Given the description of an element on the screen output the (x, y) to click on. 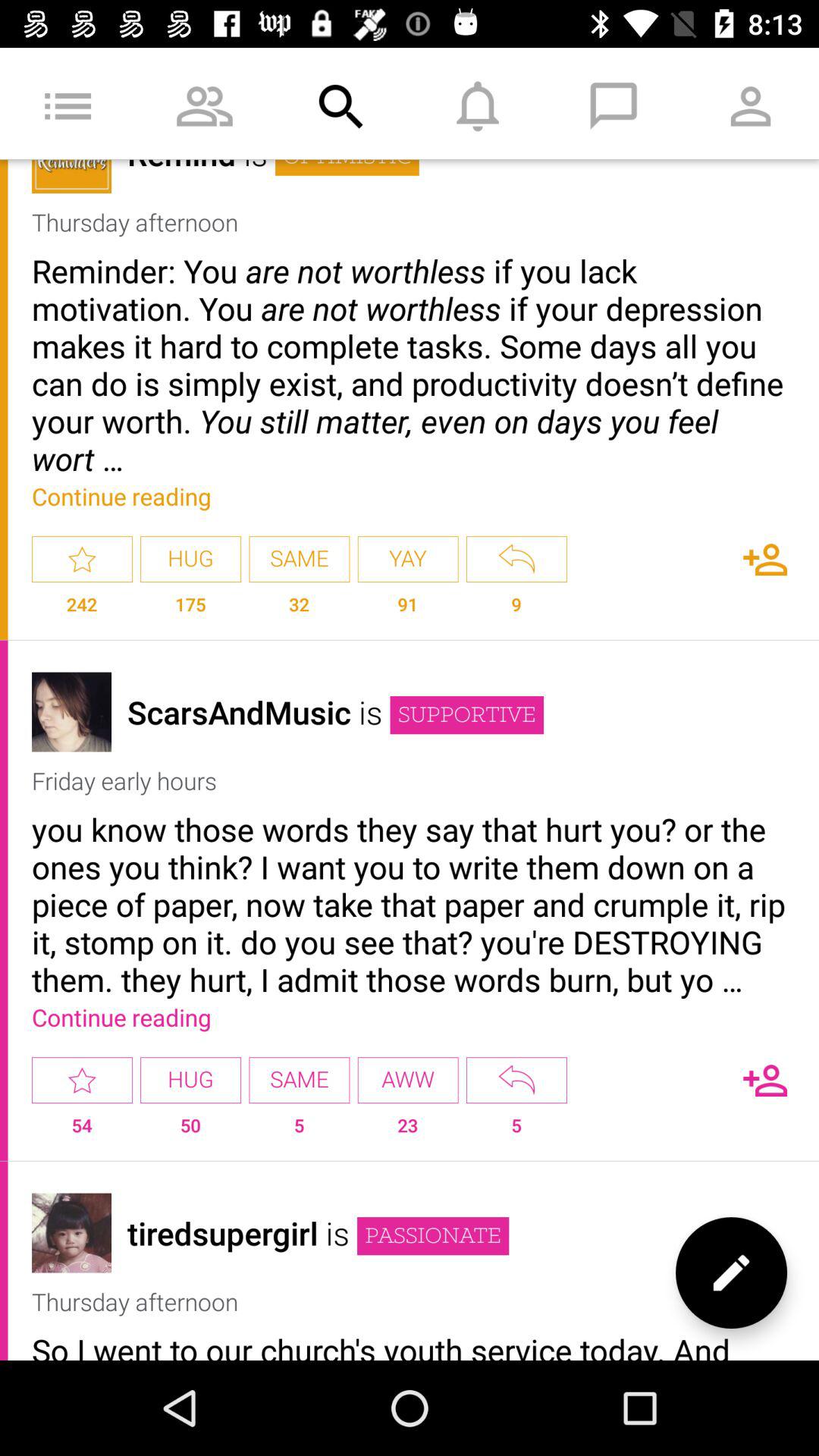
press the item above the continue reading (409, 904)
